Given the description of an element on the screen output the (x, y) to click on. 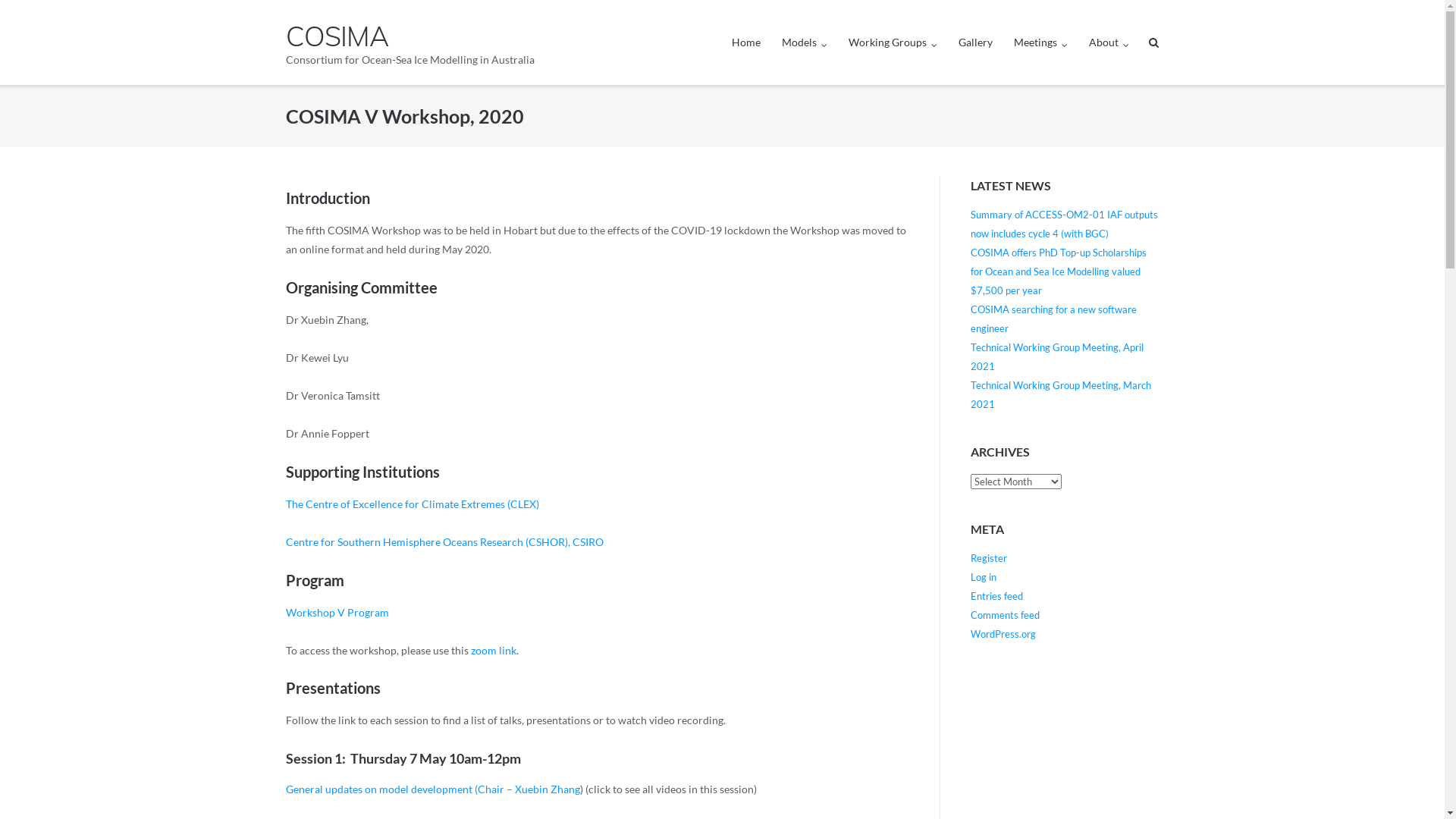
The Centre of Excellence for Climate Extremes (CLEX) Element type: text (412, 503)
Log in Element type: text (983, 577)
Technical Working Group Meeting, March 2021 Element type: text (1060, 394)
Entries feed Element type: text (996, 595)
Technical Working Group Meeting, April 2021 Element type: text (1056, 356)
Home Element type: text (745, 42)
Register Element type: text (988, 558)
Meetings Element type: text (1040, 42)
Working Groups Element type: text (892, 42)
Models Element type: text (804, 42)
Comments feed Element type: text (1004, 614)
About Element type: text (1108, 42)
WordPress.org Element type: text (1002, 633)
Workshop V Program Element type: text (337, 611)
COSIMA Element type: text (409, 35)
Gallery Element type: text (975, 42)
COSIMA searching for a new software engineer Element type: text (1053, 318)
zoom link Element type: text (493, 649)
